Given the description of an element on the screen output the (x, y) to click on. 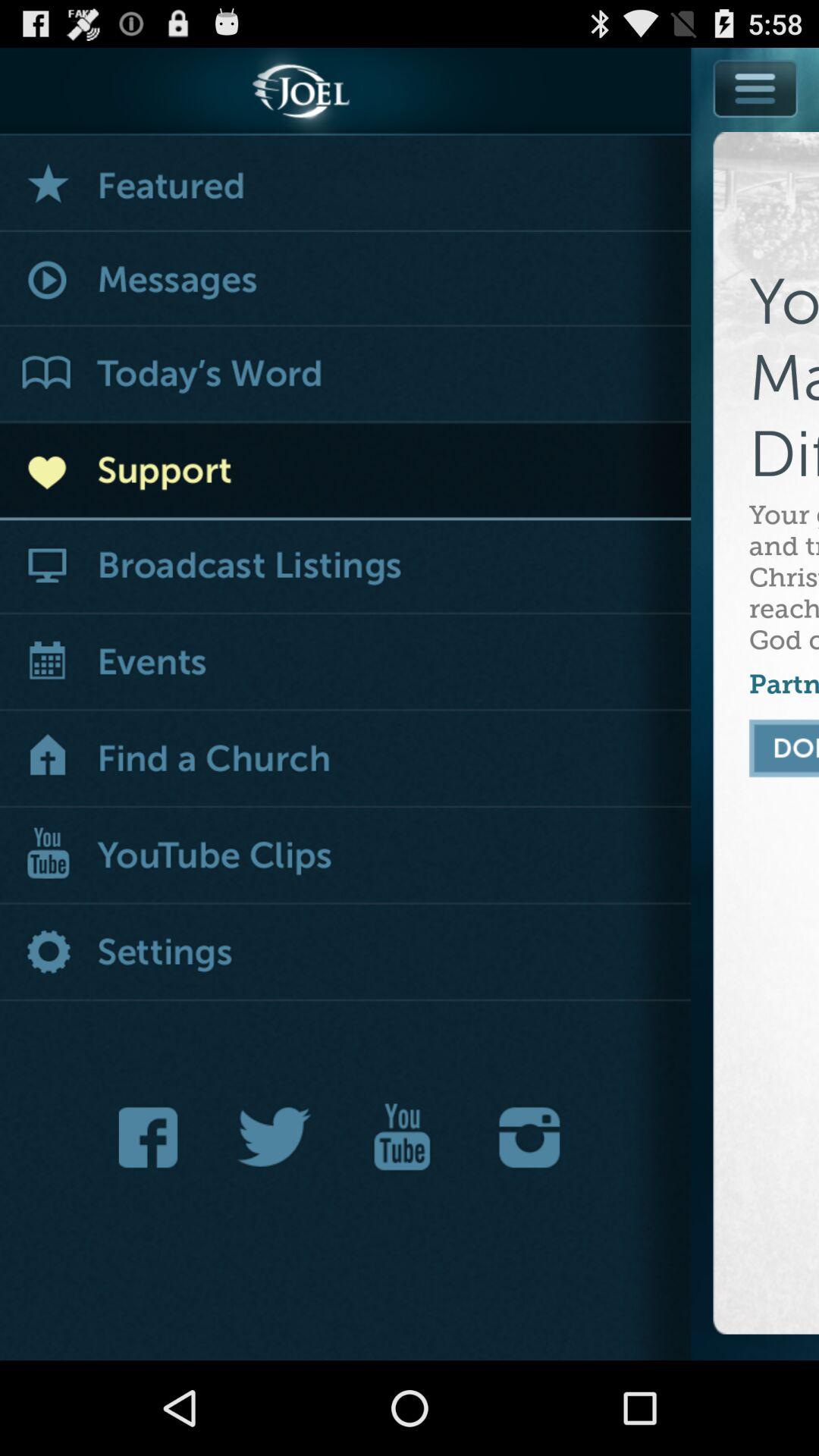
share on twitter (274, 1137)
